Given the description of an element on the screen output the (x, y) to click on. 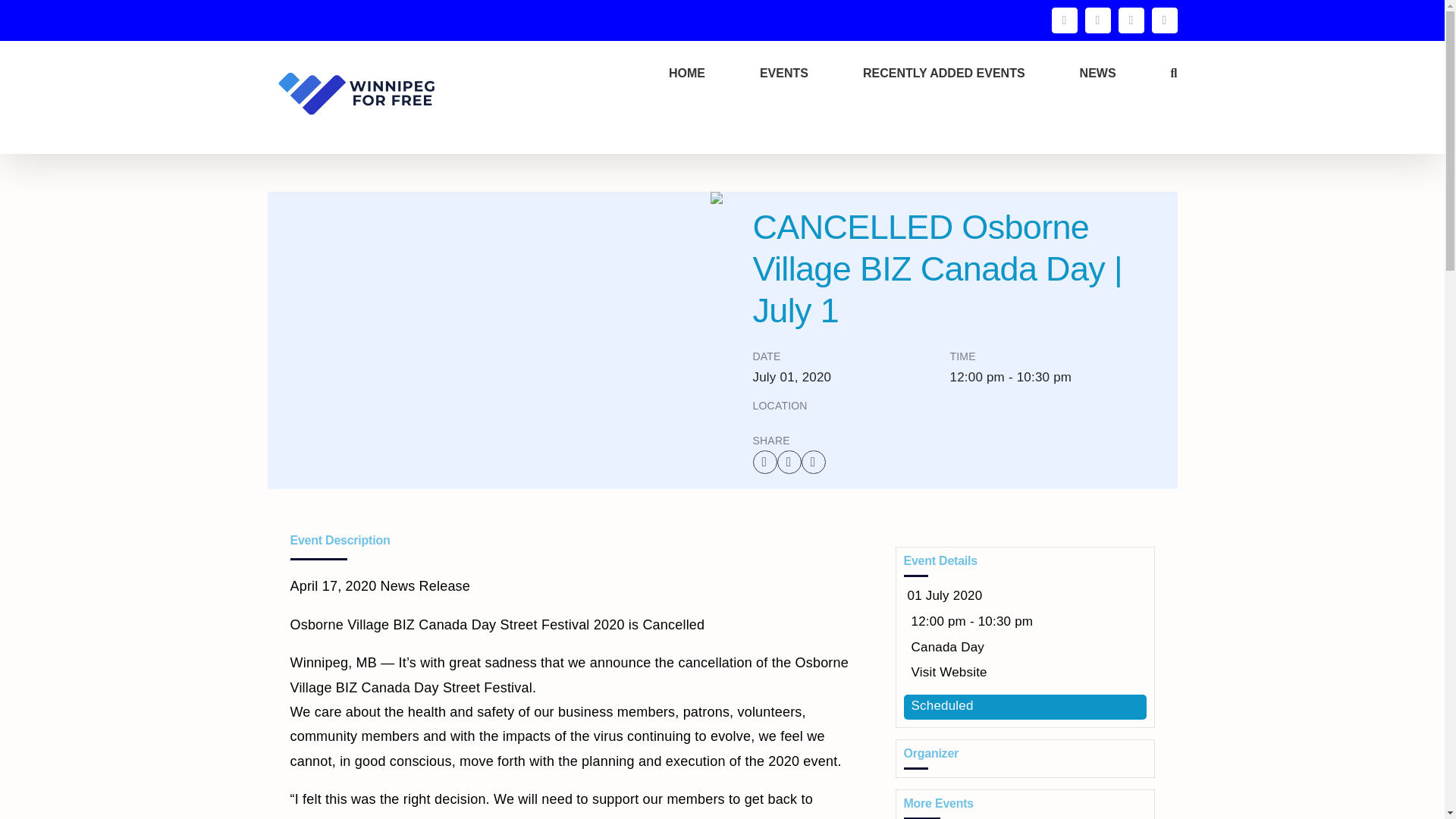
Canada Day (948, 646)
Visit Website (949, 672)
RECENTLY ADDED EVENTS (944, 73)
